Given the description of an element on the screen output the (x, y) to click on. 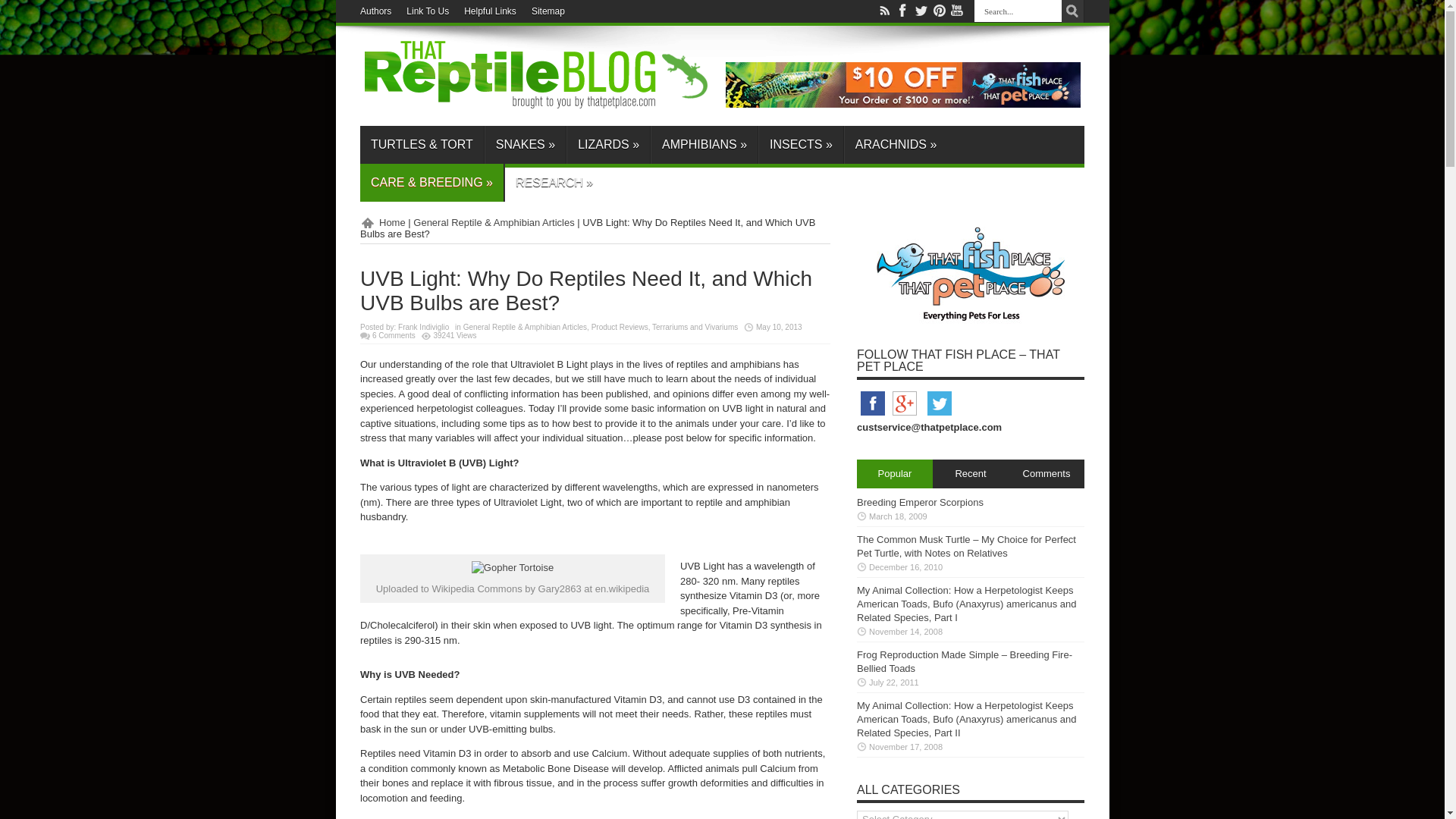
Link To Us (427, 11)
Search... (1017, 11)
Helpful Links (490, 11)
Search (1072, 11)
Search (1072, 11)
Search (1072, 11)
Twitter (939, 415)
Authors (375, 11)
Facebook (872, 415)
